Given the description of an element on the screen output the (x, y) to click on. 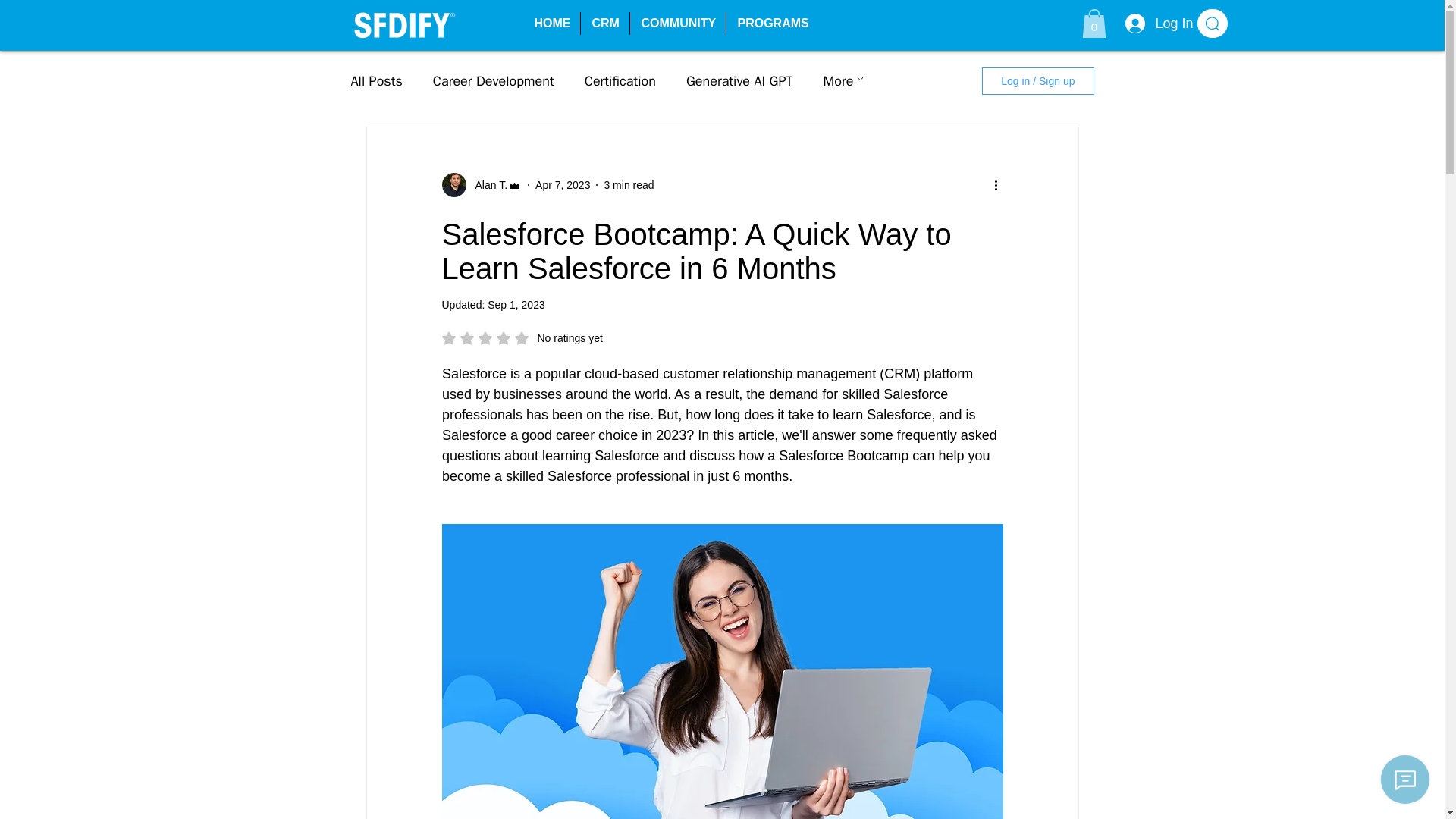
Career Development (493, 81)
Apr 7, 2023 (562, 184)
Alan T. (485, 185)
Sep 1, 2023 (515, 304)
3 min read (628, 184)
Generative AI GPT (739, 81)
All Posts (375, 81)
PROGRAMS (770, 23)
HOME (550, 23)
COMMUNITY (676, 23)
Log In (1153, 23)
Certification (521, 337)
Alan T. (620, 81)
CRM (481, 184)
